Given the description of an element on the screen output the (x, y) to click on. 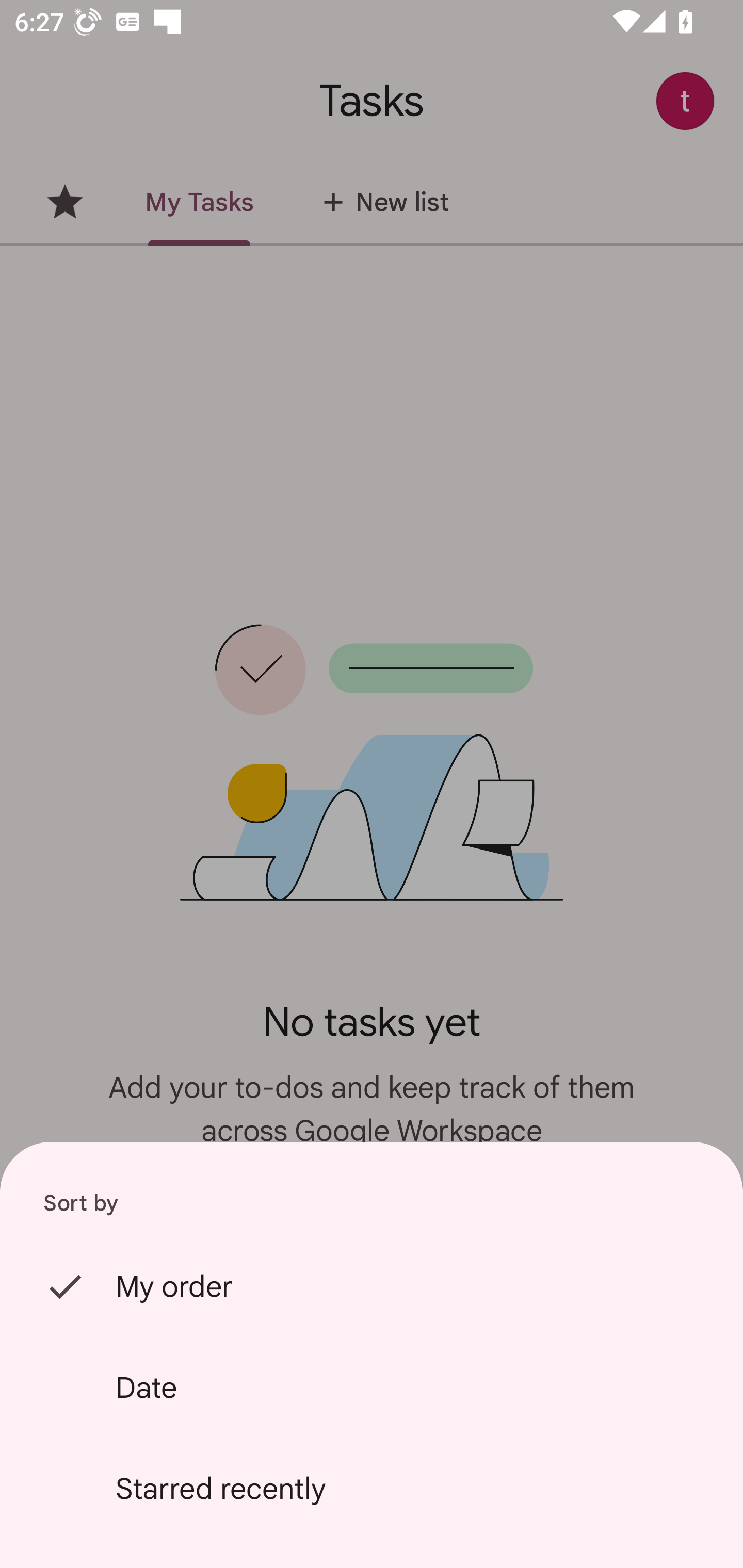
My order (371, 1286)
Date (371, 1387)
Starred recently (371, 1488)
